Given the description of an element on the screen output the (x, y) to click on. 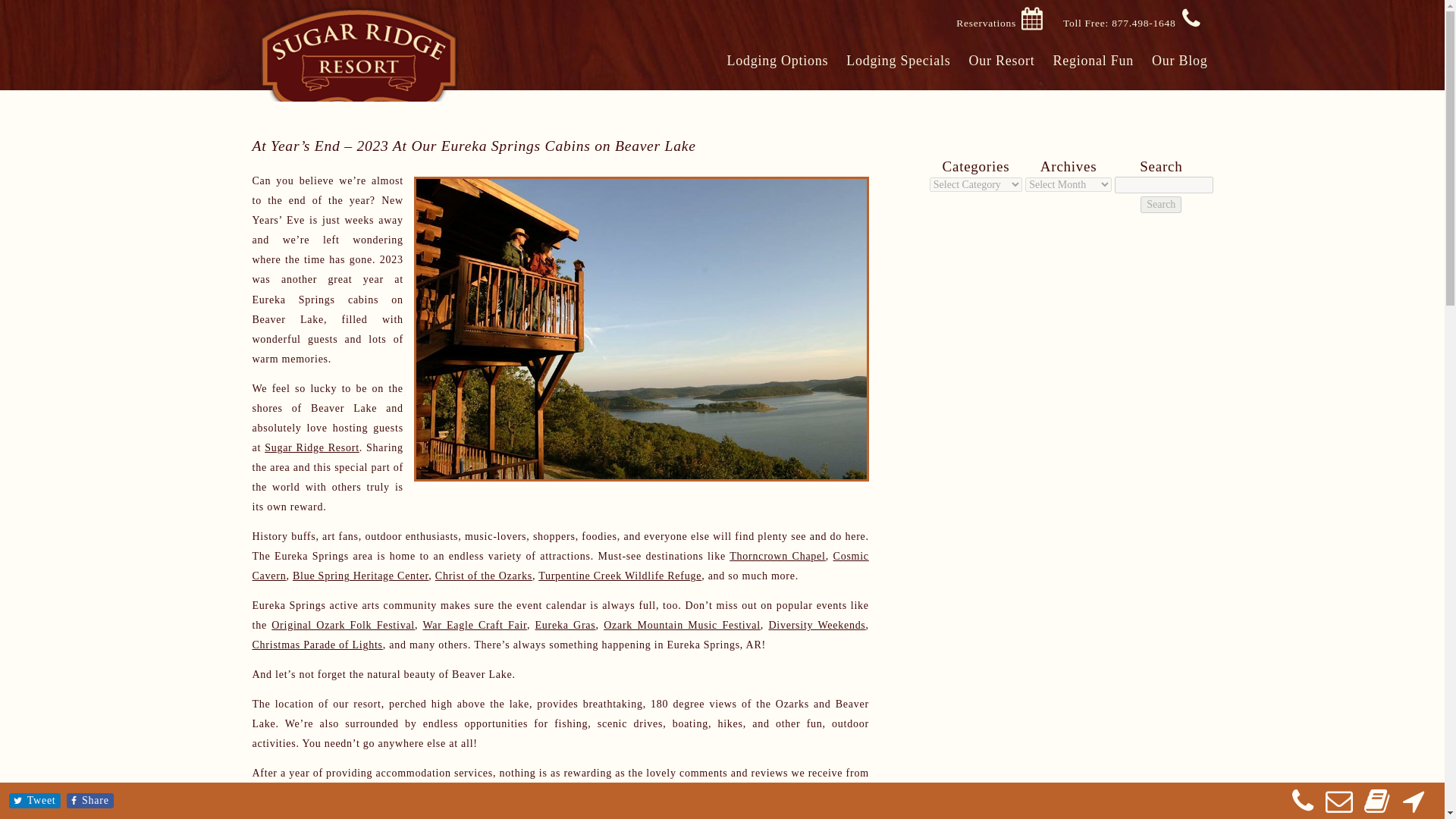
War Eagle Craft Fair (474, 624)
Phone (1302, 807)
Thorncrown Chapel (777, 555)
Original Ozark Folk Festival (342, 624)
Book Now (1376, 807)
Blue Spring Heritage Center (360, 575)
Reservations (986, 23)
Diversity Weekends (816, 624)
Directions (1412, 807)
Lodging Options (777, 61)
